Given the description of an element on the screen output the (x, y) to click on. 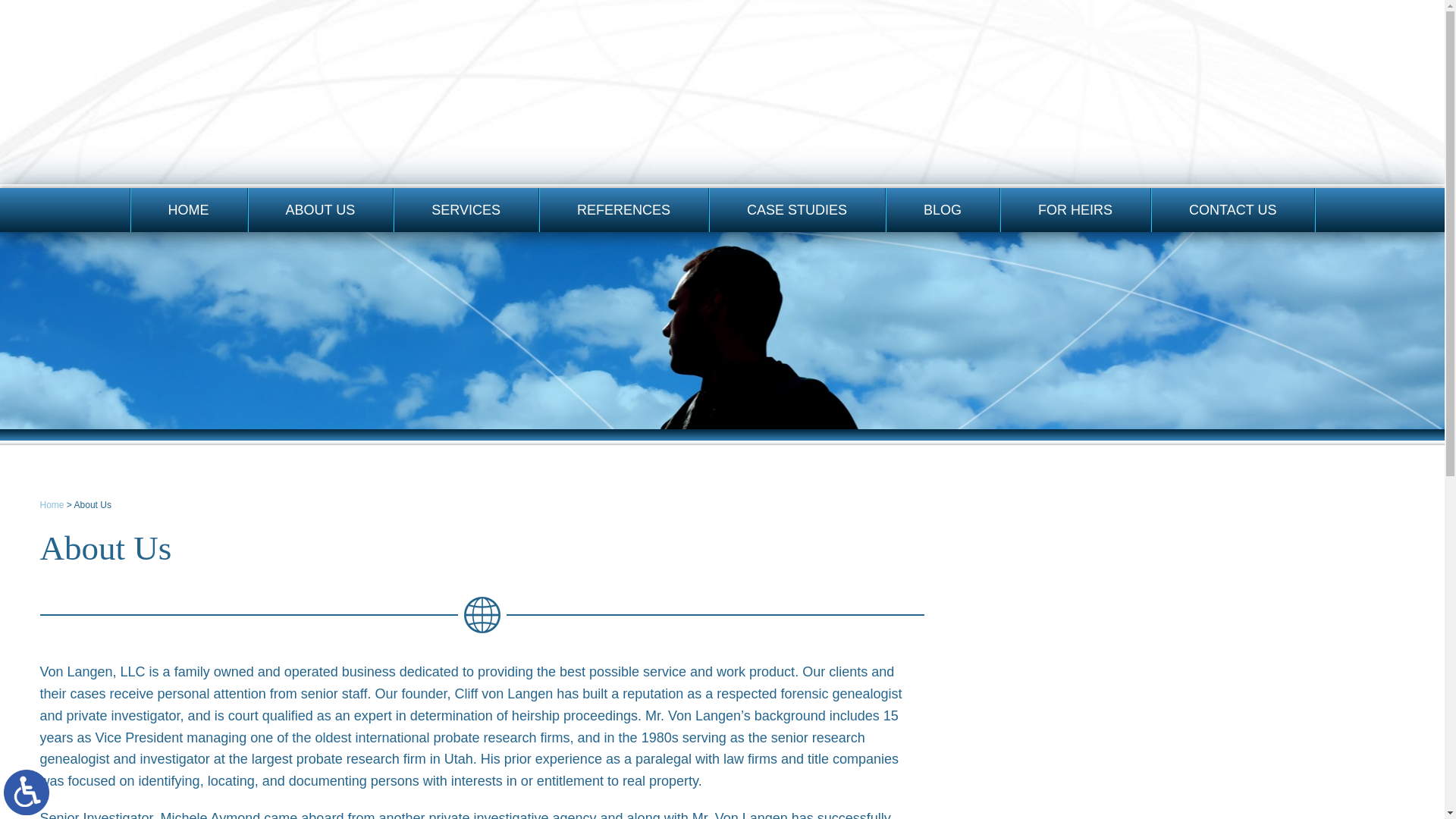
CASE STUDIES (797, 209)
SERVICES (465, 209)
FOR HEIRS (1075, 209)
ABOUT US (320, 209)
Switch to ADA Accessible Theme (26, 791)
REFERENCES (622, 209)
BLOG (941, 209)
Home (51, 504)
HOME (189, 209)
CONTACT US (1232, 209)
